Given the description of an element on the screen output the (x, y) to click on. 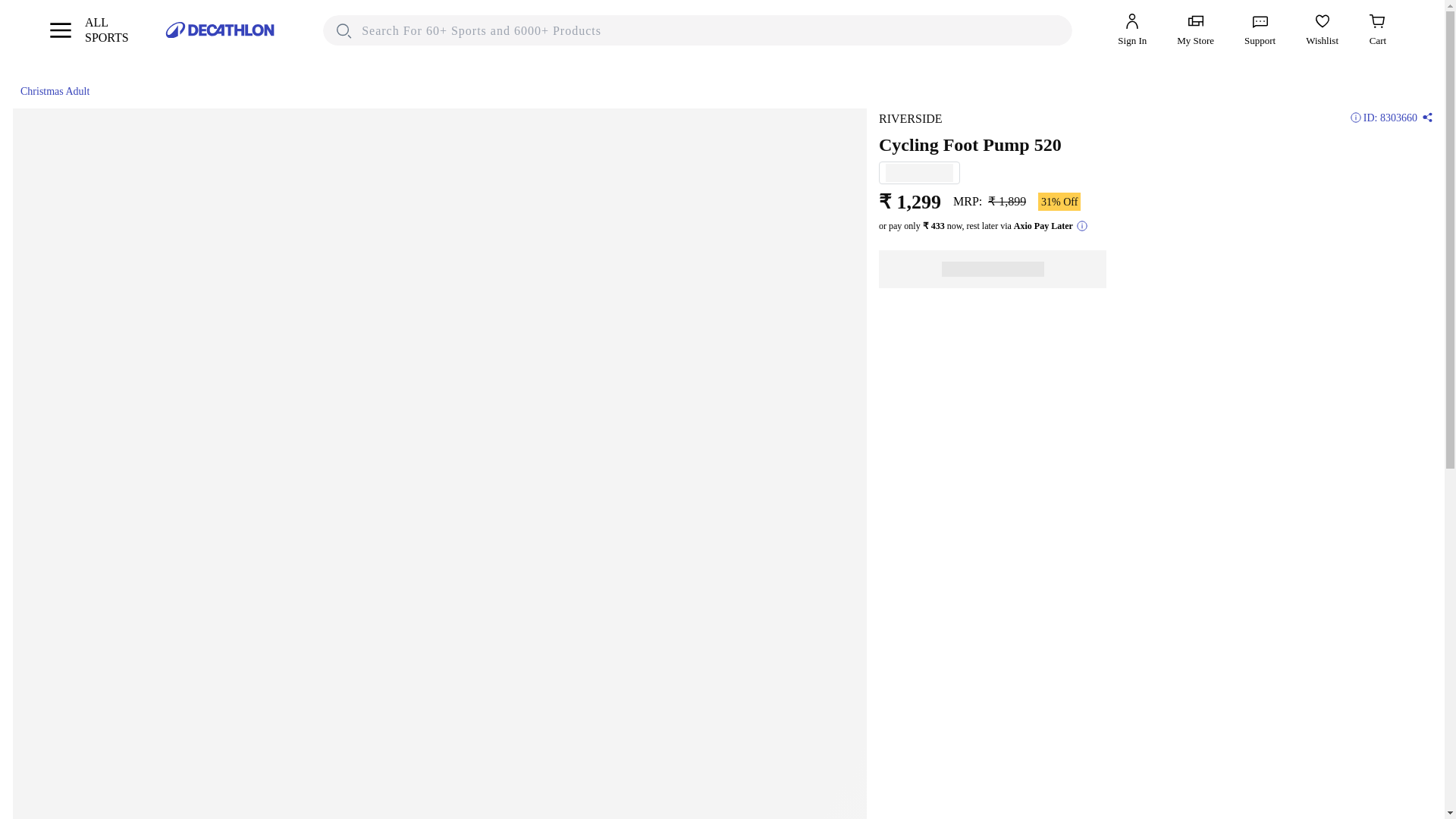
Support (88, 30)
Cart (1259, 30)
Christmas Adult (1377, 30)
Wishlist (50, 90)
Sign In (1322, 30)
My Store (1132, 30)
